Given the description of an element on the screen output the (x, y) to click on. 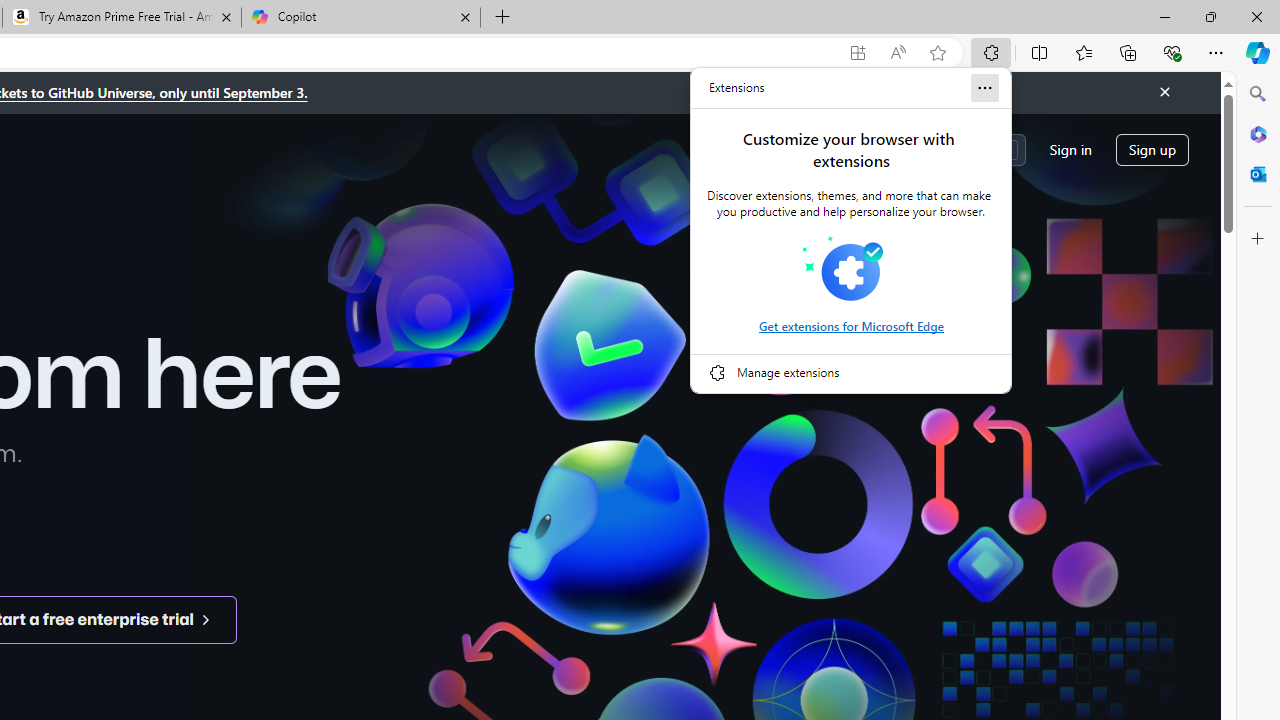
Extensions (737, 88)
Get extensions for Microsoft Edge (850, 326)
Manage extensions (851, 372)
